Given the description of an element on the screen output the (x, y) to click on. 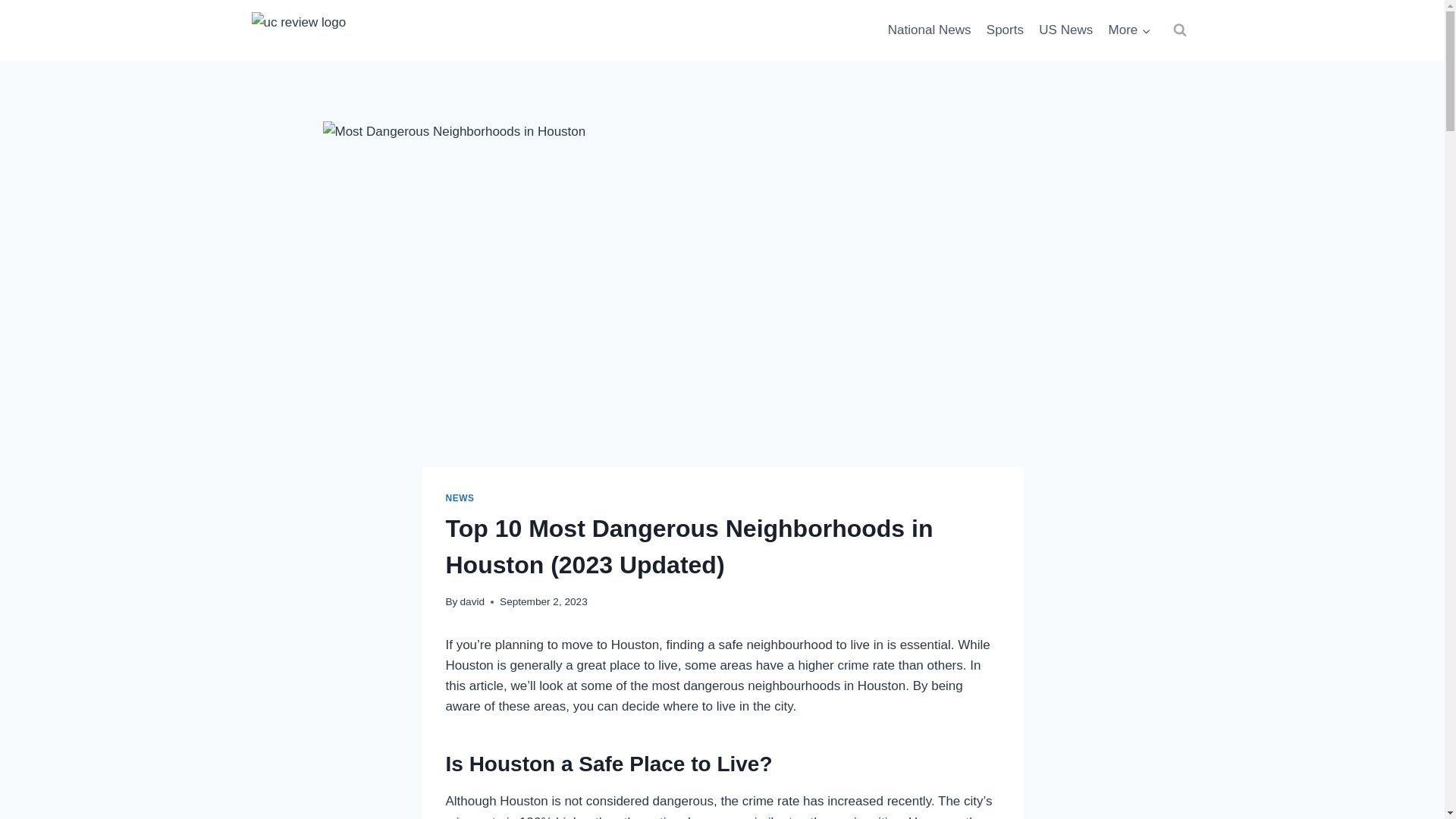
NEWS (459, 498)
National News (929, 30)
US News (1065, 30)
Sports (1005, 30)
david (472, 601)
More (1128, 30)
